Given the description of an element on the screen output the (x, y) to click on. 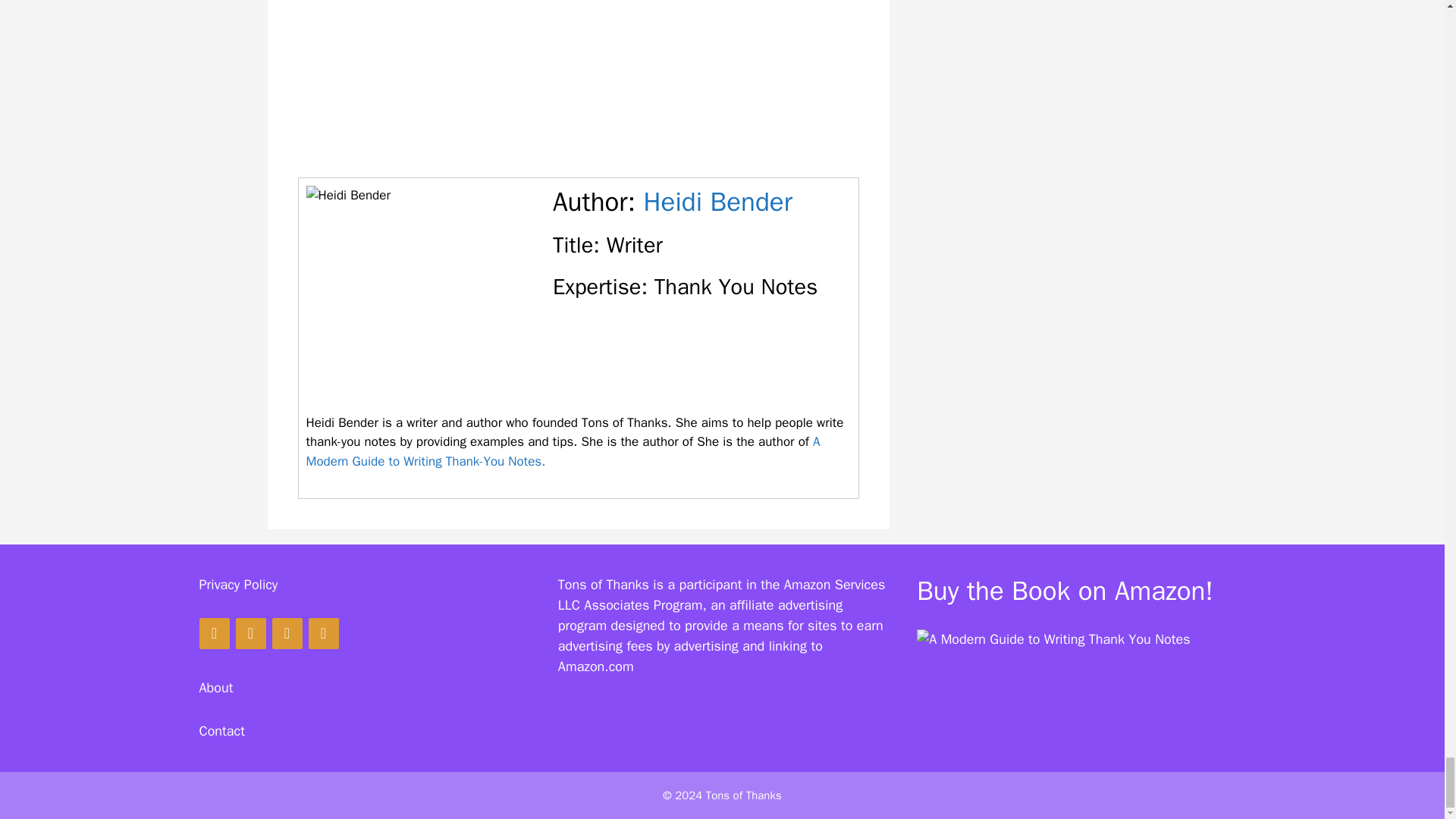
LinkedIn (322, 633)
Pinterest (249, 633)
Facebook (213, 633)
Twitter (285, 633)
